Given the description of an element on the screen output the (x, y) to click on. 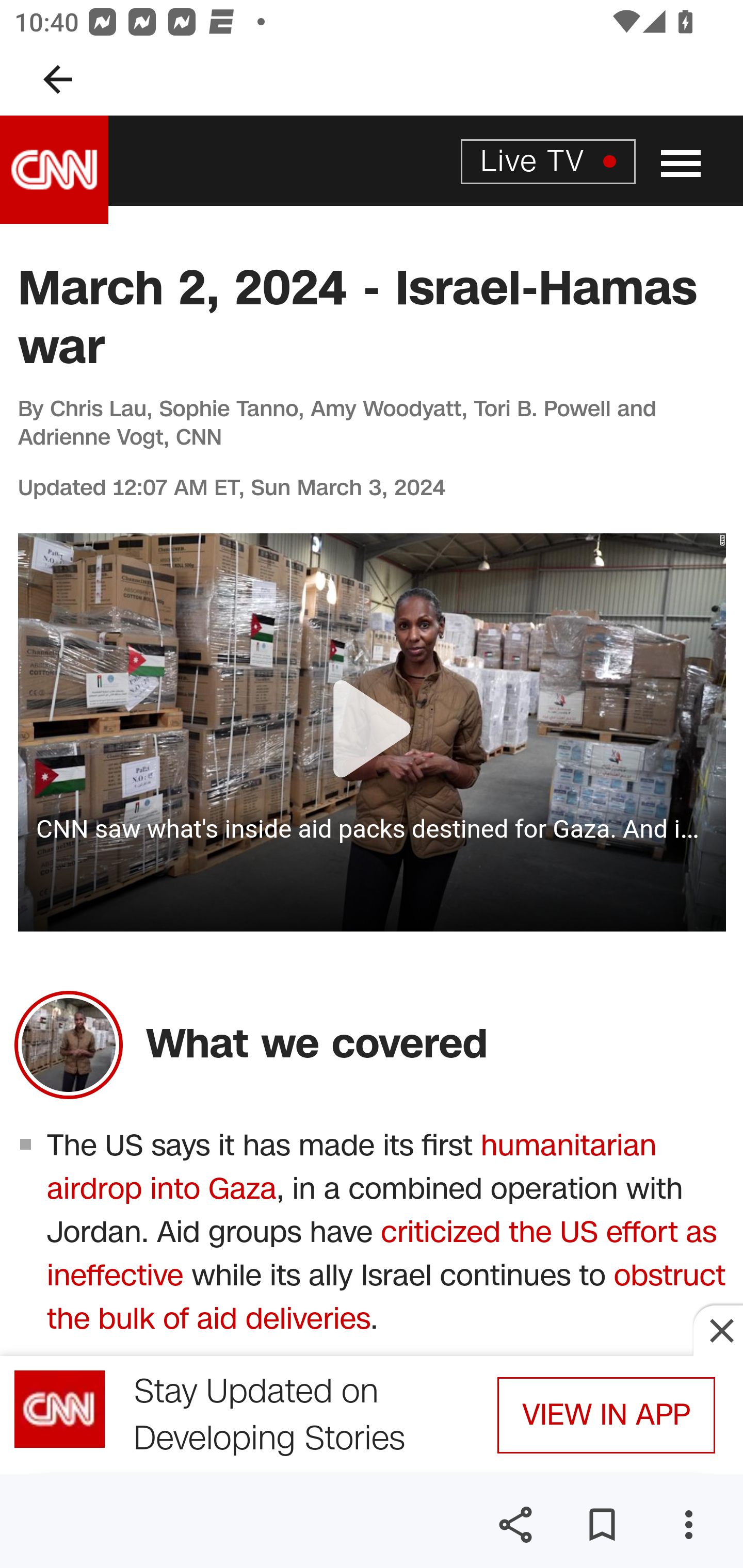
Navigate up (57, 79)
www.cnn (54, 170)
Live TV  (547, 160)
Play (372, 731)
humanitarian airdrop into Gaza (351, 1167)
criticized the US effort as ineffective (382, 1254)
obstruct the bulk of aid deliveries (385, 1297)
Dismiss (718, 1330)
VIEW IN APP (606, 1415)
Share (514, 1524)
Save for later (601, 1524)
More options (688, 1524)
